Given the description of an element on the screen output the (x, y) to click on. 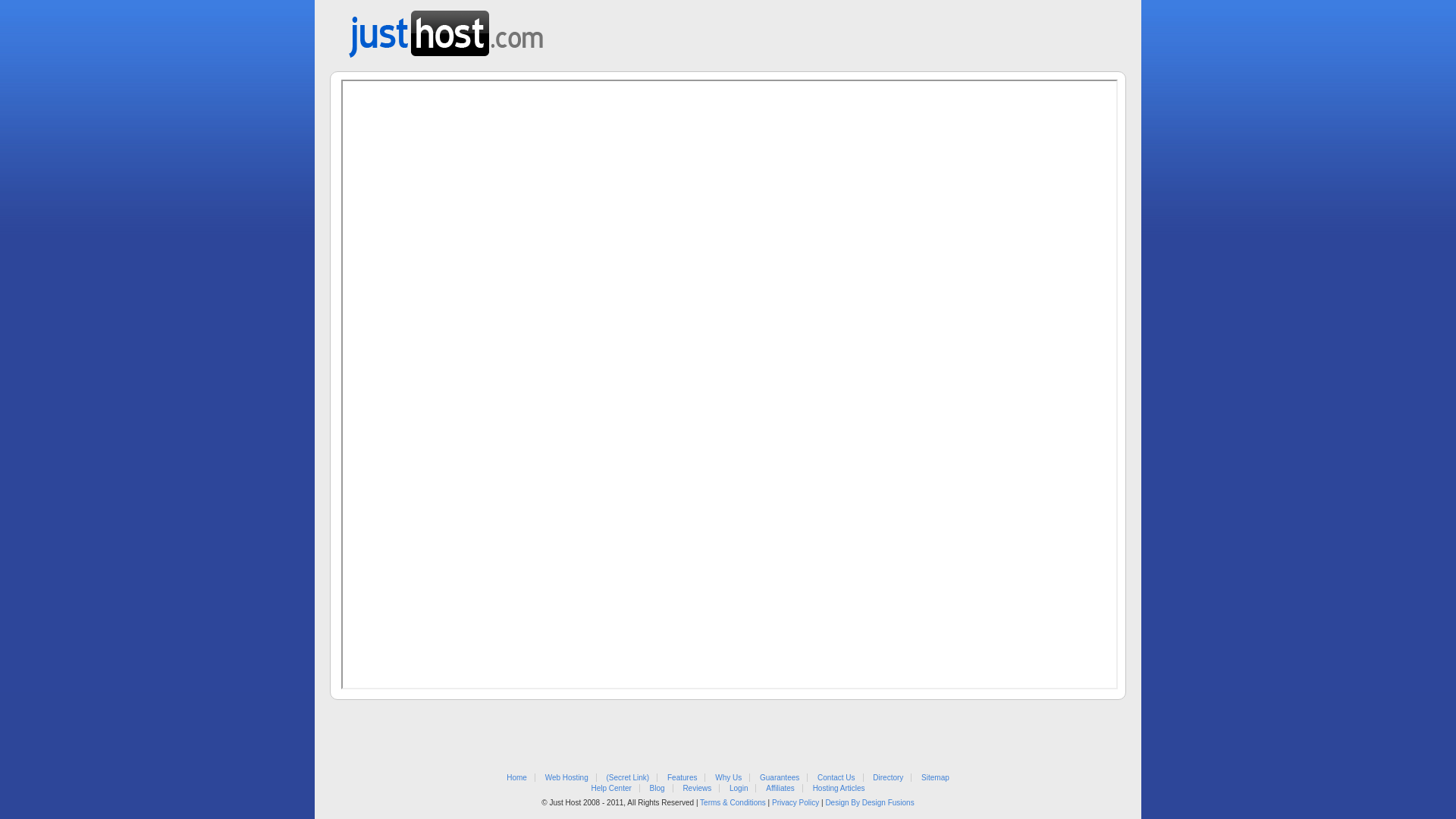
Features Element type: text (681, 777)
Help Center Element type: text (610, 788)
Blog Element type: text (657, 788)
Home Element type: text (516, 777)
Affiliates Element type: text (779, 788)
Web Hosting from Just Host Element type: text (445, 28)
Reviews Element type: text (696, 788)
(Secret Link) Element type: text (627, 777)
Design By Design Fusions Element type: text (869, 802)
Why Us Element type: text (728, 777)
Web Hosting Element type: text (566, 777)
Contact Us Element type: text (835, 777)
Guarantees Element type: text (779, 777)
Privacy Policy Element type: text (795, 802)
Directory Element type: text (887, 777)
Sitemap Element type: text (935, 777)
Login Element type: text (738, 788)
Hosting Articles Element type: text (838, 788)
Terms & Conditions Element type: text (732, 802)
